Given the description of an element on the screen output the (x, y) to click on. 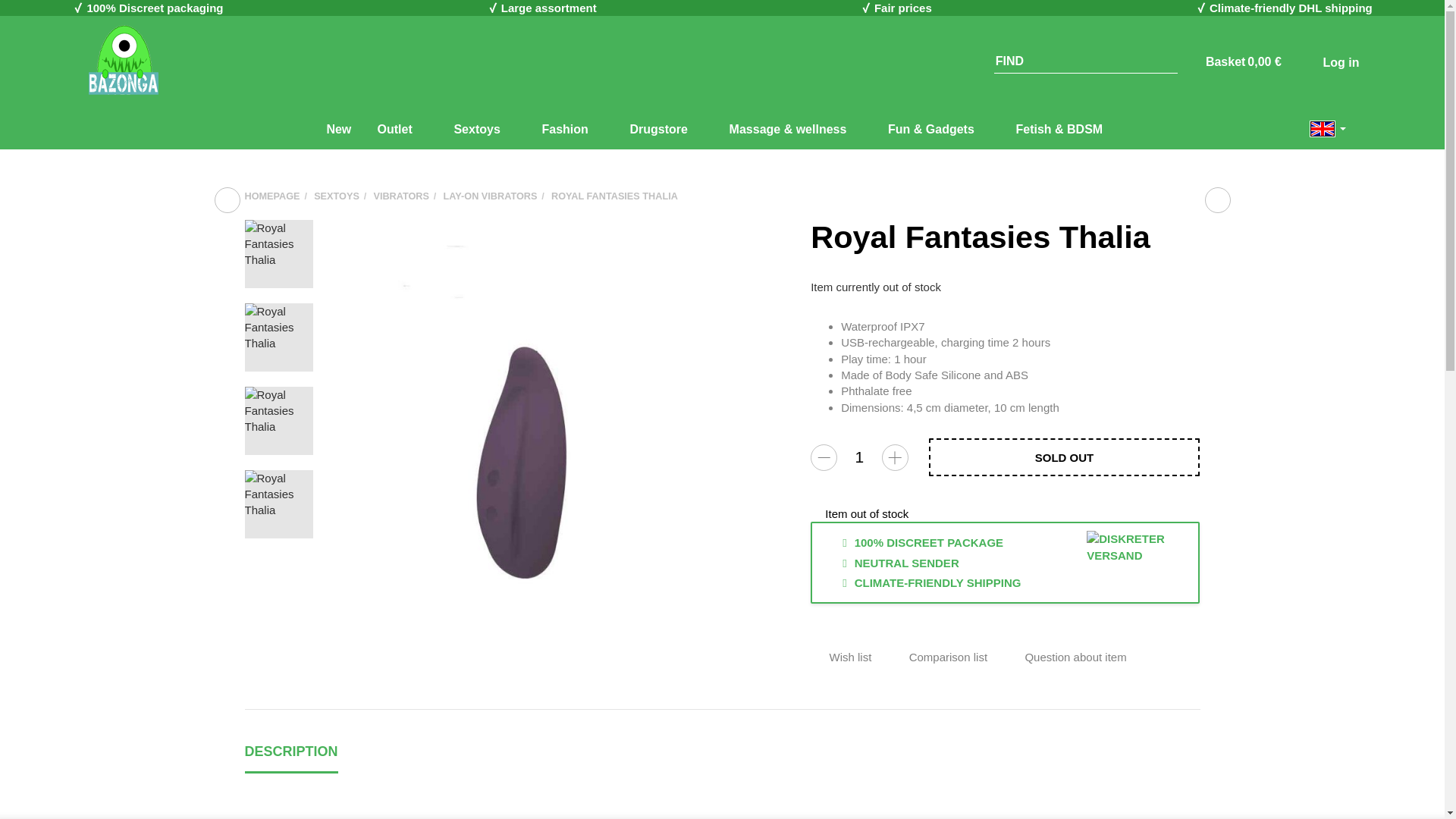
New (338, 128)
Sextoys (484, 128)
Log in (1326, 61)
Basket (1243, 61)
Outlet (402, 128)
Please select a language. (1328, 127)
New (338, 128)
Bazonga (122, 61)
Log in (1326, 61)
1 (858, 457)
